Given the description of an element on the screen output the (x, y) to click on. 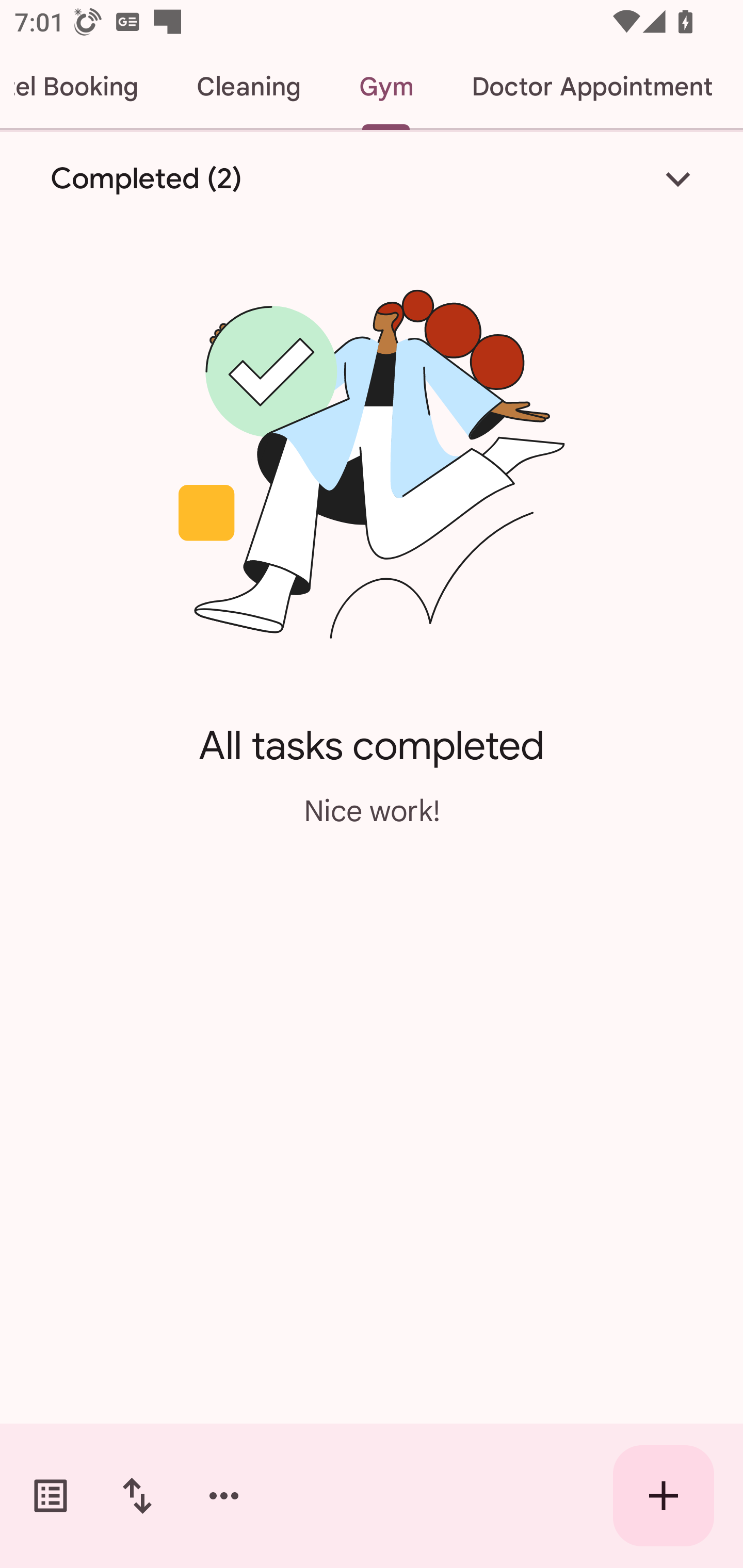
Cleaning (248, 86)
Doctor Appointment (591, 86)
Completed (2) (371, 178)
Switch task lists (50, 1495)
Create new task (663, 1495)
Change sort order (136, 1495)
More options (223, 1495)
